Given the description of an element on the screen output the (x, y) to click on. 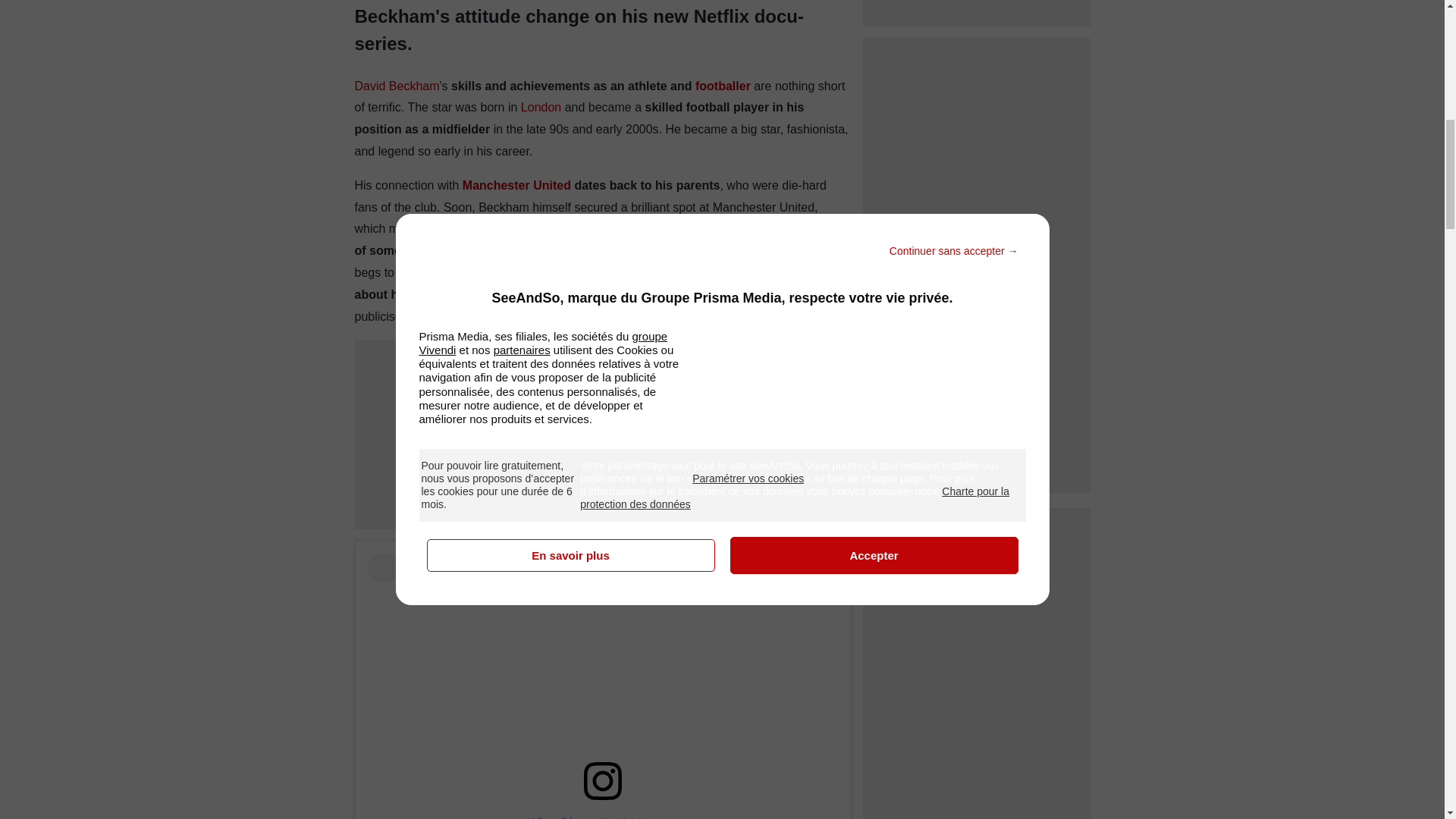
View this post on Instagram (602, 685)
footballer (723, 85)
Manchester United (514, 185)
London (540, 106)
David Beckham (397, 85)
